Given the description of an element on the screen output the (x, y) to click on. 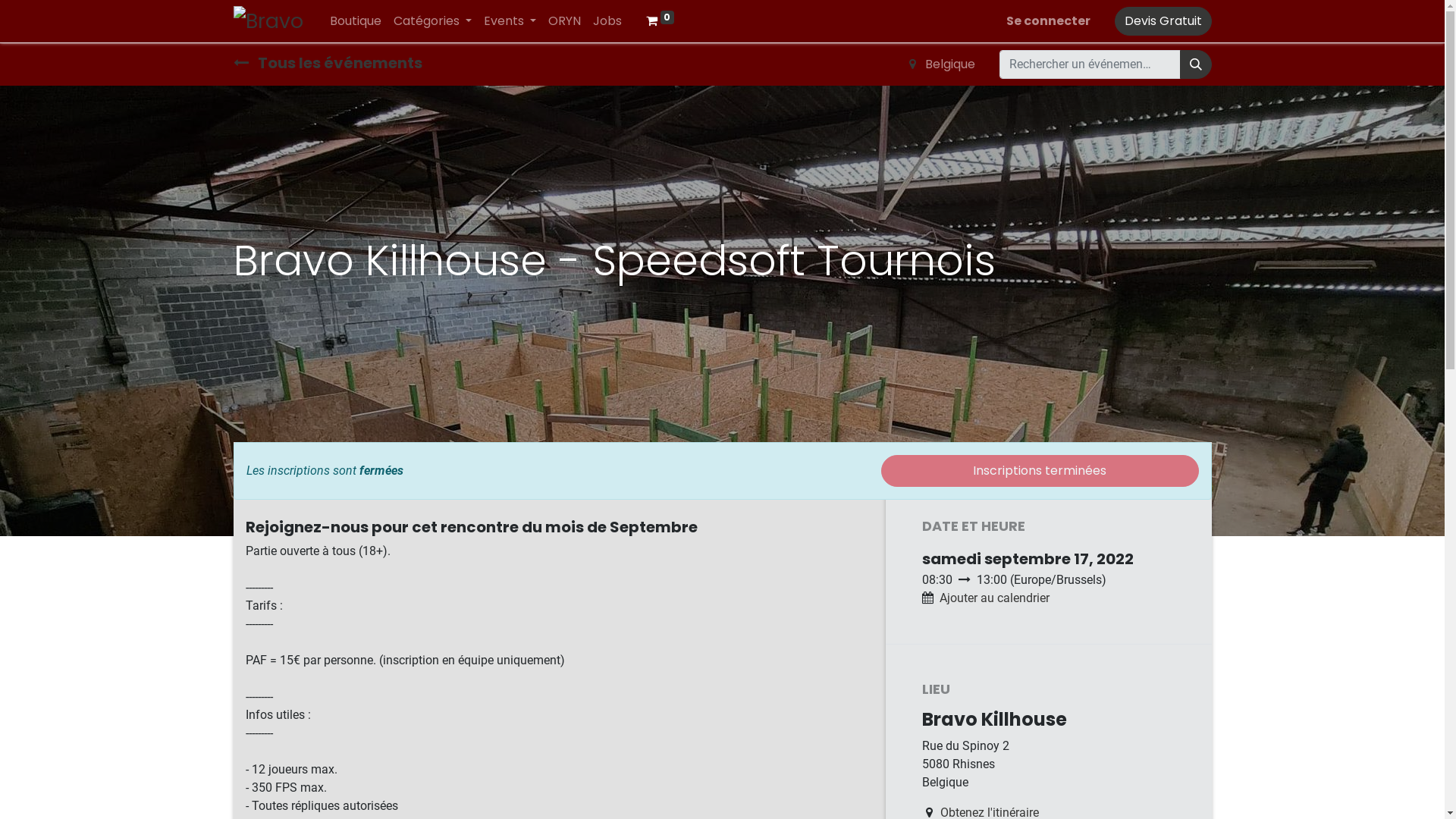
Se connecter Element type: text (1047, 21)
0 Element type: text (660, 21)
Events Element type: text (509, 21)
Devis Gratuit Element type: text (1162, 20)
Boutique Element type: text (354, 21)
Ajouter au calendrier Element type: text (993, 597)
Jobs Element type: text (606, 21)
Belgique Element type: text (941, 64)
Bravo Factory Element type: hover (269, 21)
Rechercher Element type: hover (1195, 64)
ORYN Element type: text (564, 21)
